Given the description of an element on the screen output the (x, y) to click on. 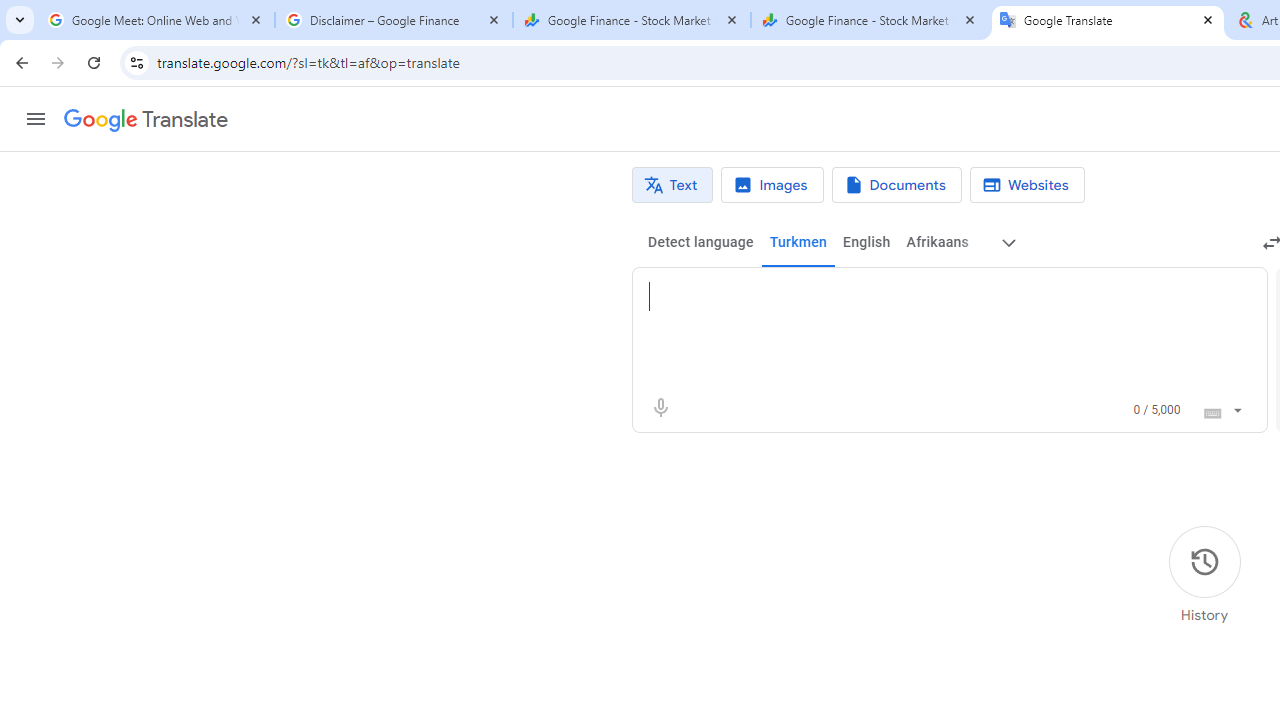
Source text (930, 295)
Show the Input Tools menu (1236, 407)
More source languages (1008, 242)
Text translation (672, 185)
0 of 5,000 characters used (1156, 410)
Main menu (35, 119)
Turkmen (797, 242)
English (866, 242)
History (1204, 575)
